Given the description of an element on the screen output the (x, y) to click on. 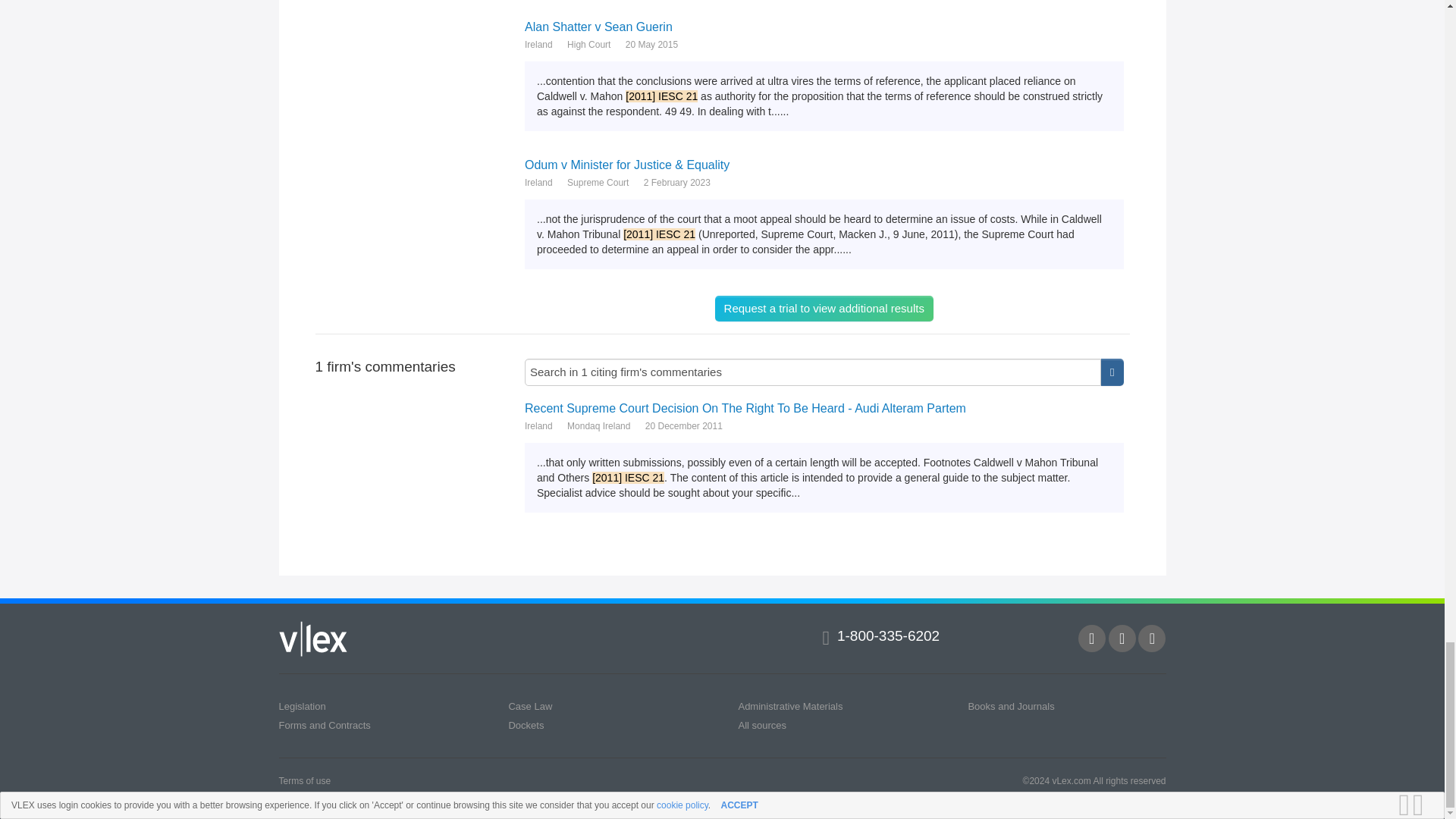
Dockets (525, 725)
Ireland (538, 44)
Forms and Contracts (325, 725)
20 May 2015 (652, 44)
Alan Shatter v Sean Guerin (824, 26)
Terms of use (305, 780)
Ireland (538, 182)
Alan Shatter v Sean Guerin (824, 26)
